Given the description of an element on the screen output the (x, y) to click on. 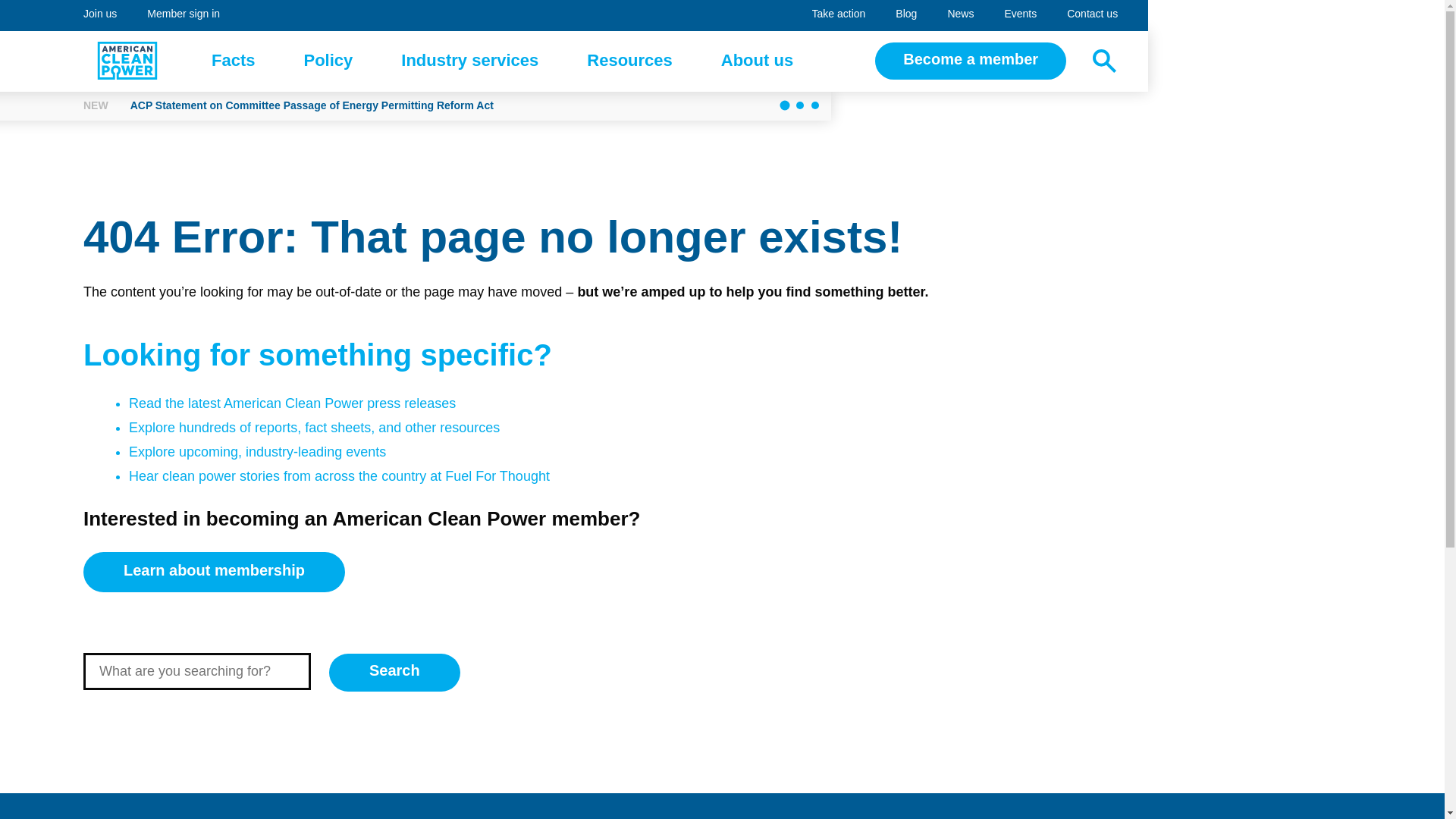
Member sign in (183, 15)
Events (1019, 15)
Resources (629, 60)
Contact us (1091, 15)
Policy (328, 60)
Take action (838, 15)
ACP (127, 60)
Blog (905, 15)
News (959, 15)
Join us (233, 60)
